Given the description of an element on the screen output the (x, y) to click on. 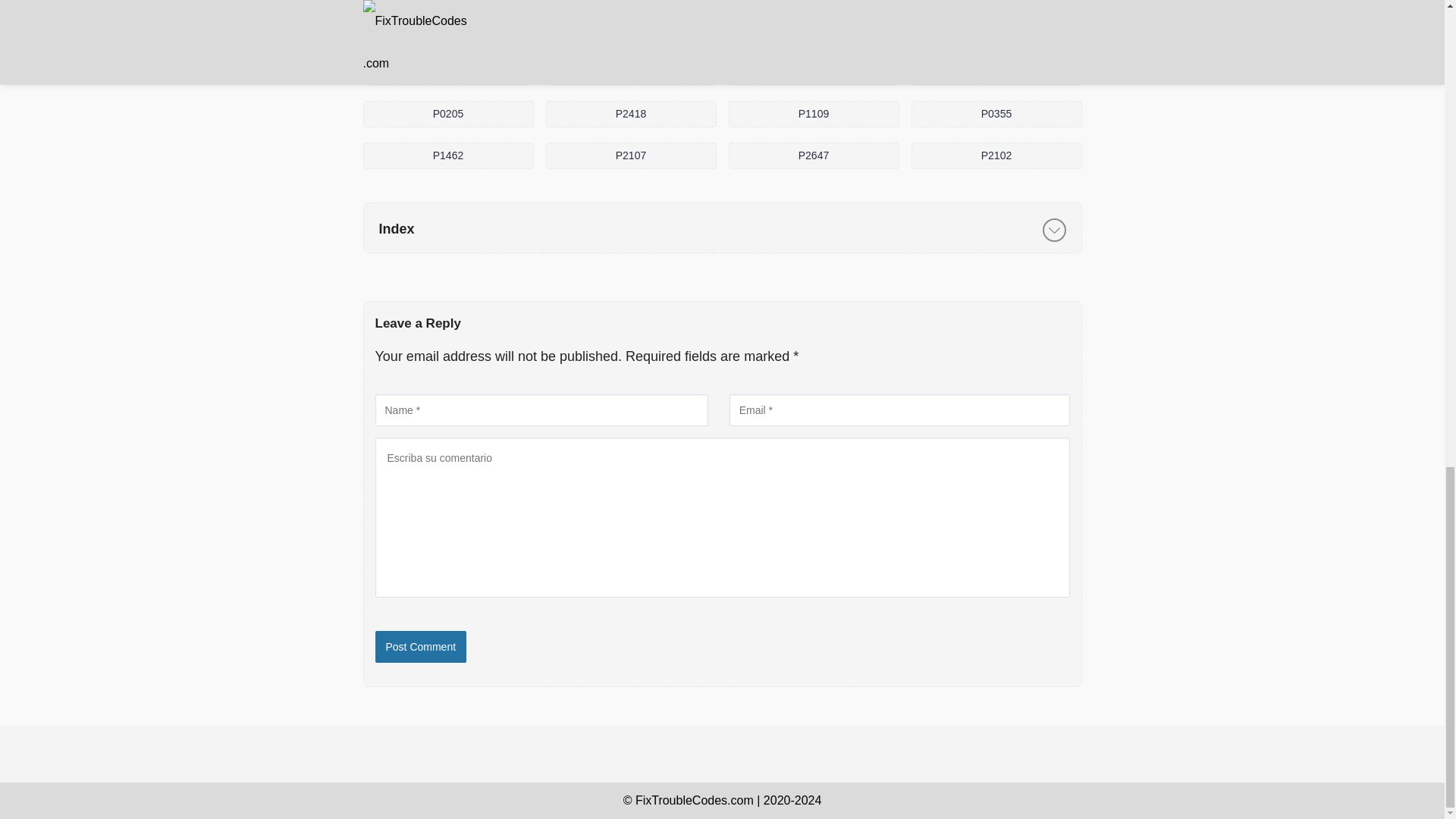
P2102 (996, 155)
P0205 (447, 113)
P2647 (813, 155)
P1201 (631, 71)
P2107 (631, 155)
B1806 (996, 71)
P2502 (447, 71)
P0355 (996, 113)
P1911 (813, 71)
P2102 (996, 155)
Post Comment (419, 646)
P1201 (631, 71)
P1109 (813, 113)
P1109 (813, 113)
P2107 (631, 155)
